Given the description of an element on the screen output the (x, y) to click on. 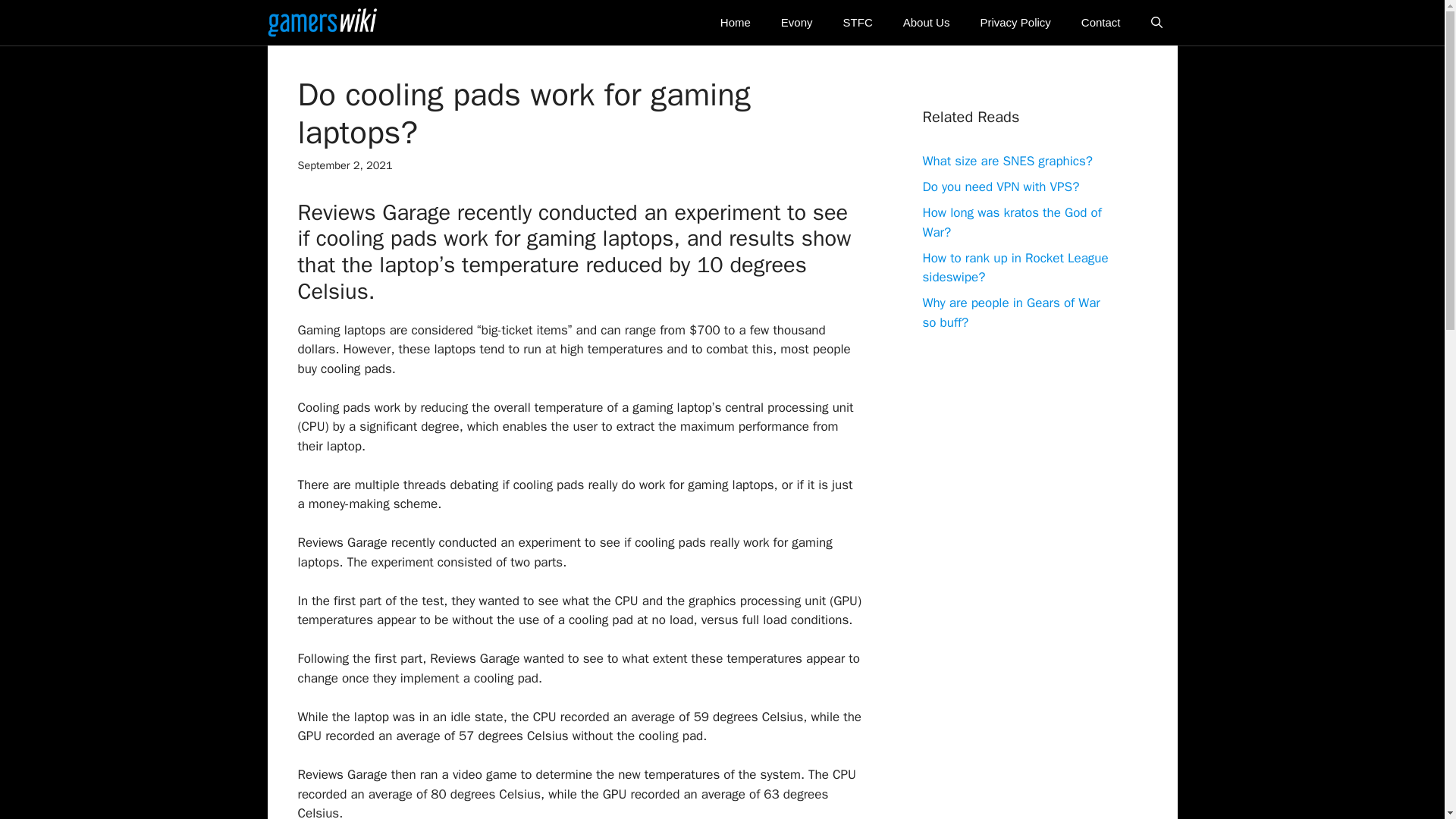
Privacy Policy (1014, 22)
Why are people in Gears of War so buff? (1010, 312)
How long was kratos the God of War? (1010, 222)
About Us (926, 22)
Evony (796, 22)
Contact (1100, 22)
Gamers Wiki (321, 22)
What size are SNES graphics? (1006, 160)
How to rank up in Rocket League sideswipe? (1014, 267)
Do you need VPN with VPS? (999, 186)
